Given the description of an element on the screen output the (x, y) to click on. 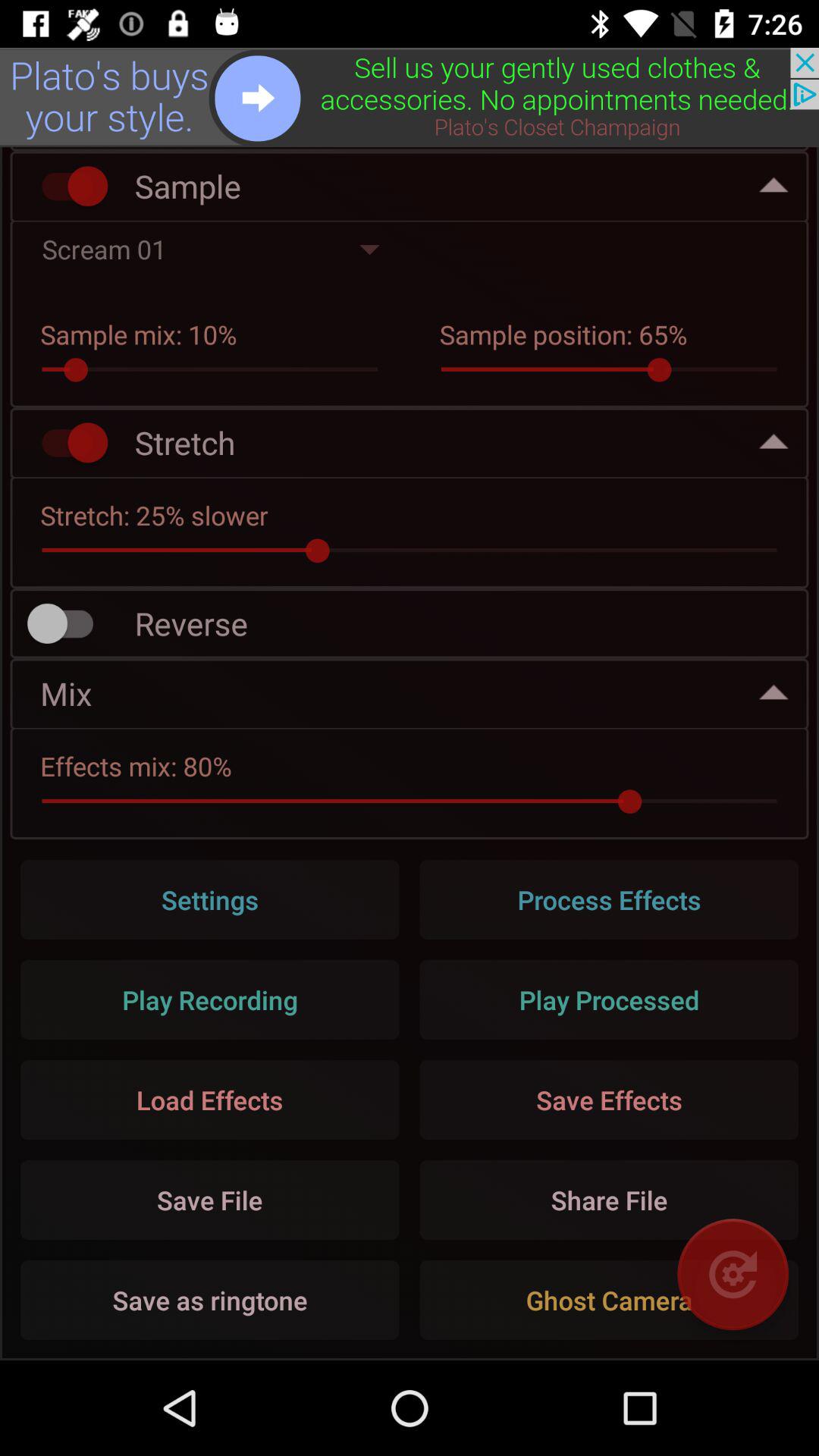
turn on reverse (67, 623)
